Given the description of an element on the screen output the (x, y) to click on. 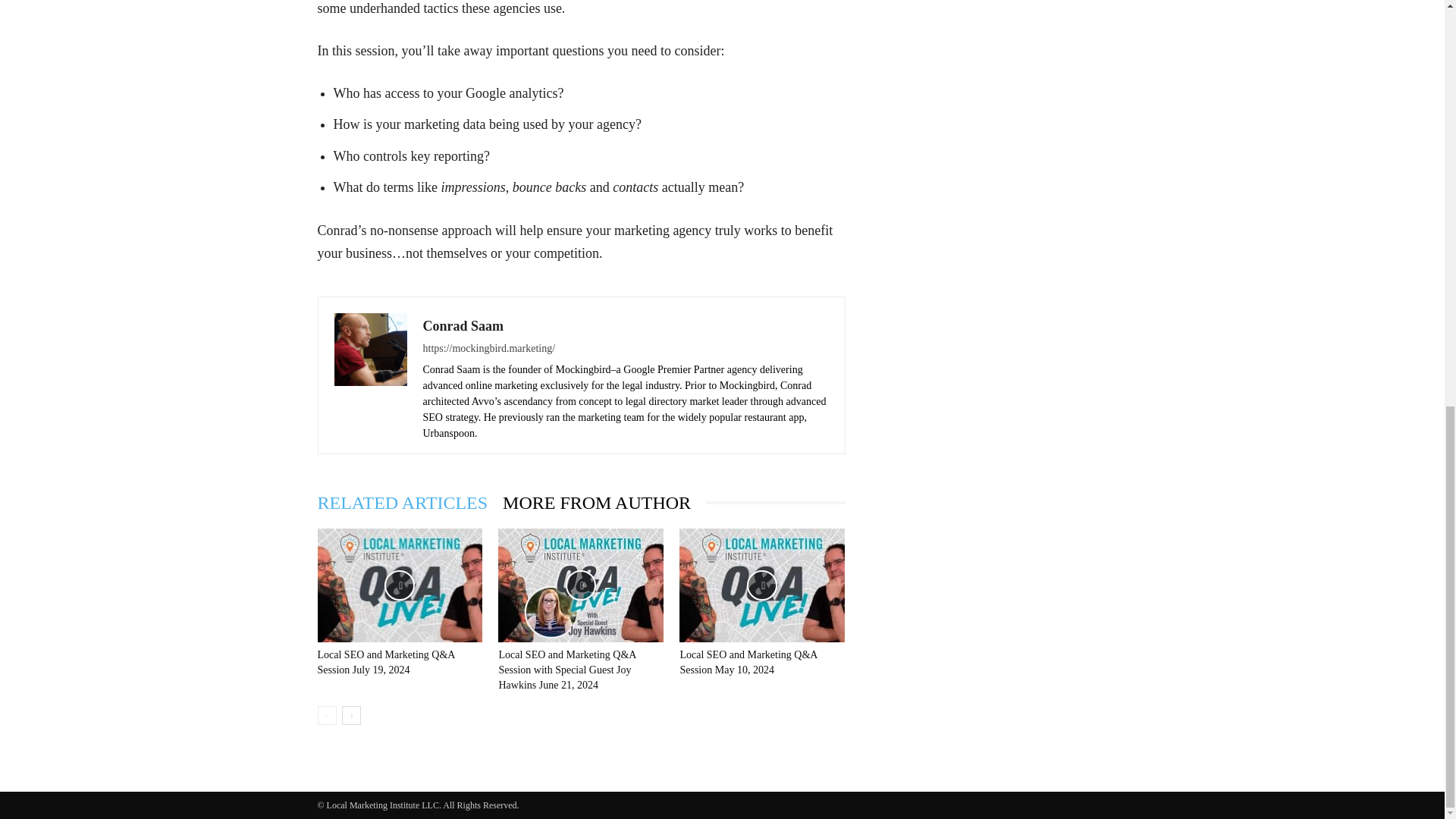
Conrad Saam (463, 325)
MORE FROM AUTHOR (604, 502)
RELATED ARTICLES (409, 502)
